Given the description of an element on the screen output the (x, y) to click on. 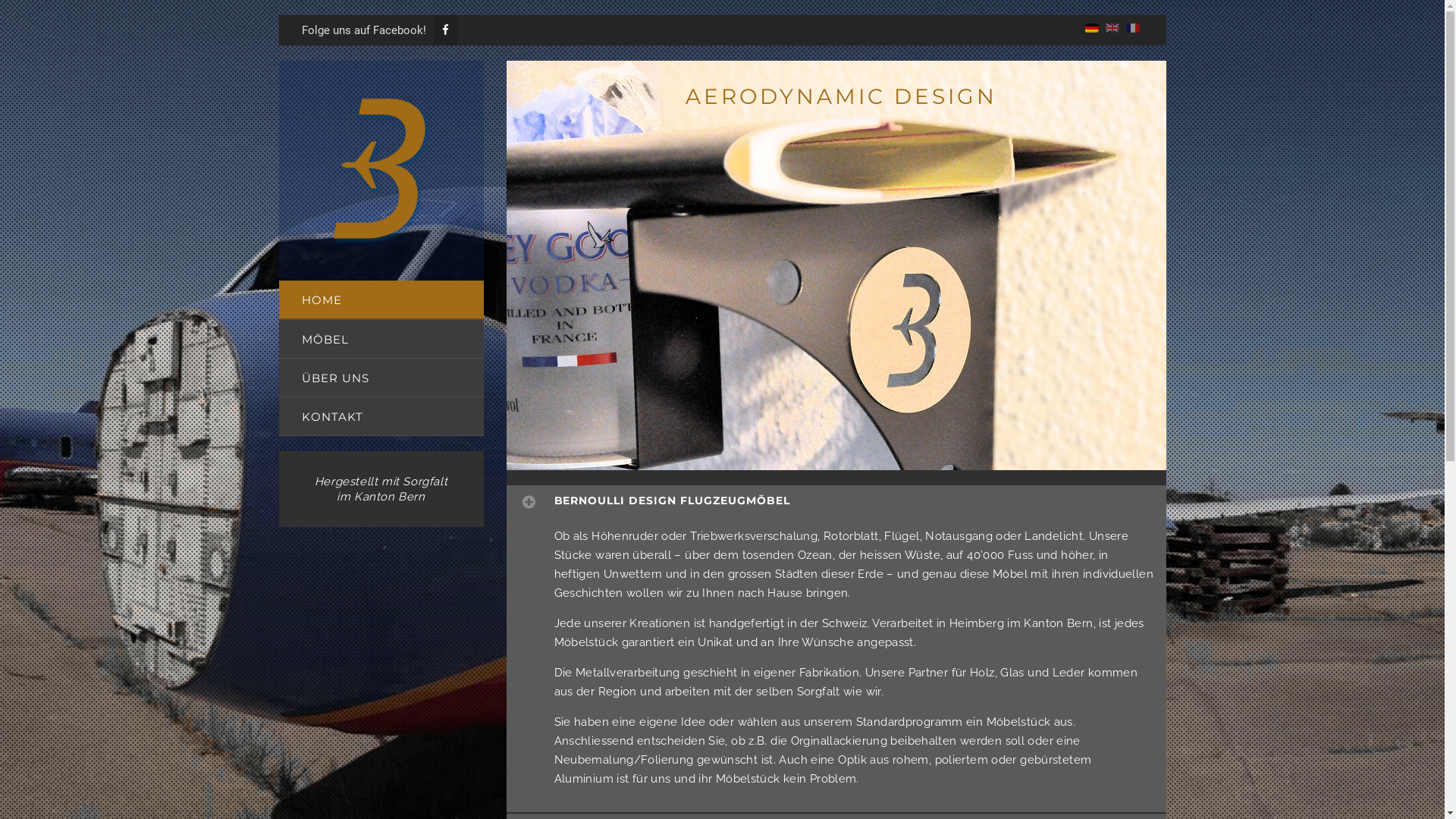
KONTAKT Element type: text (381, 416)
English (en) Element type: hover (1112, 27)
Deutsch (de) Element type: hover (1091, 27)
HOME Element type: text (381, 299)
